Given the description of an element on the screen output the (x, y) to click on. 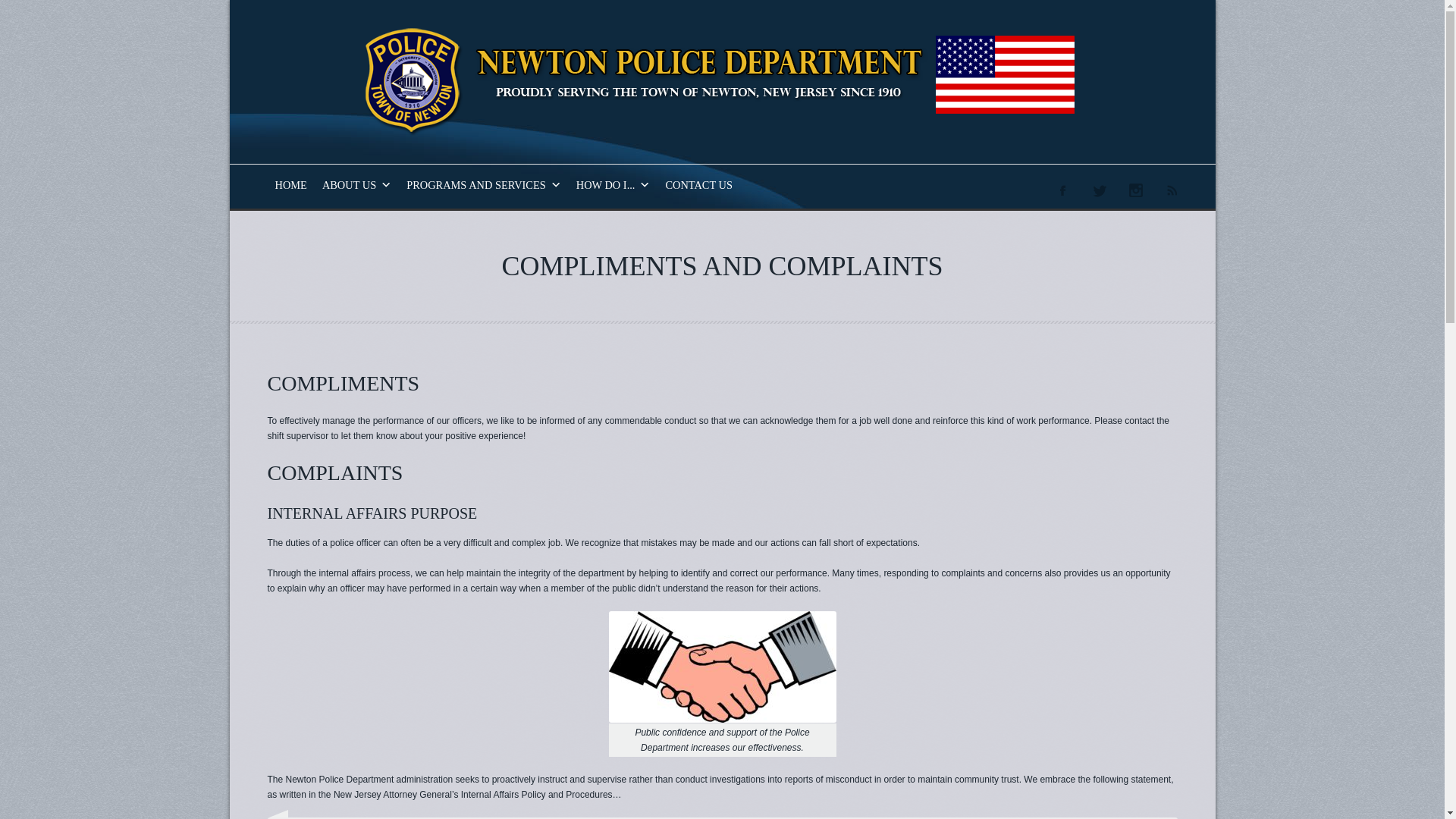
HOME (290, 185)
ABOUT US (356, 185)
PROGRAMS AND SERVICES (483, 185)
